Given the description of an element on the screen output the (x, y) to click on. 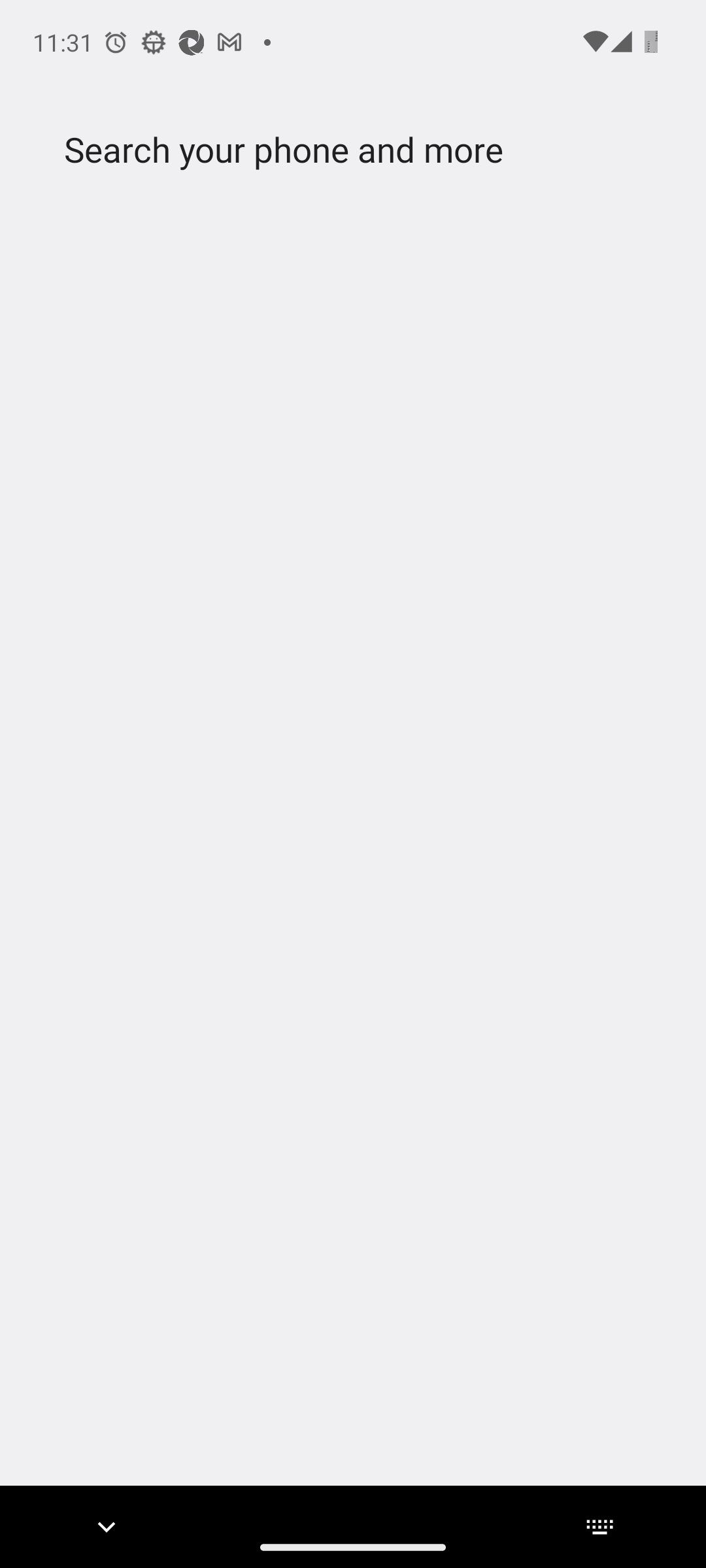
Search your phone and more (321, 149)
